Given the description of an element on the screen output the (x, y) to click on. 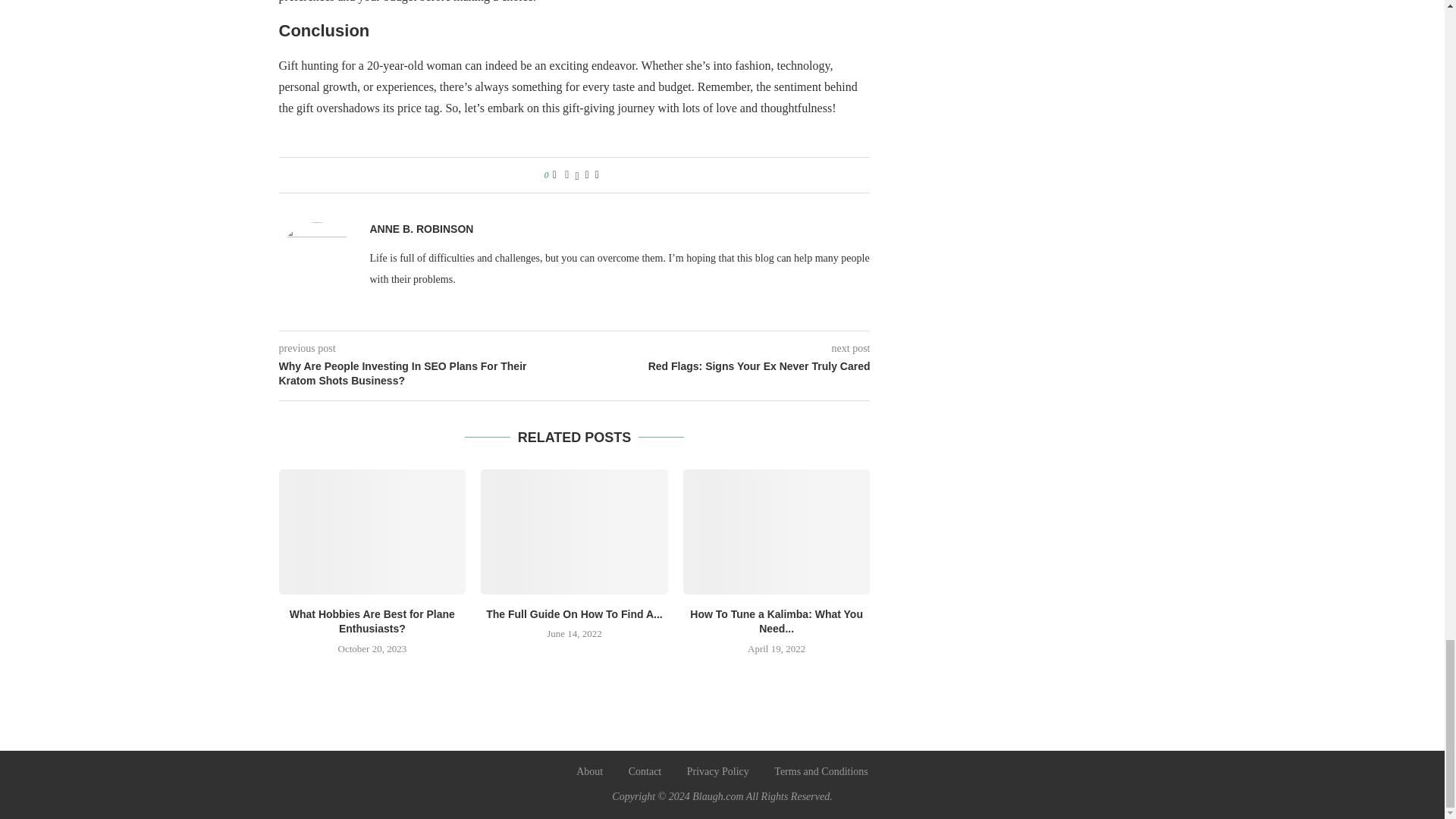
Author Anne B. Robinson (421, 228)
The Full Guide On How To Find A Hobby (574, 531)
What Hobbies Are Best for Plane Enthusiasts? (372, 531)
How To Tune a Kalimba: What You Need to Do? (776, 531)
